Given the description of an element on the screen output the (x, y) to click on. 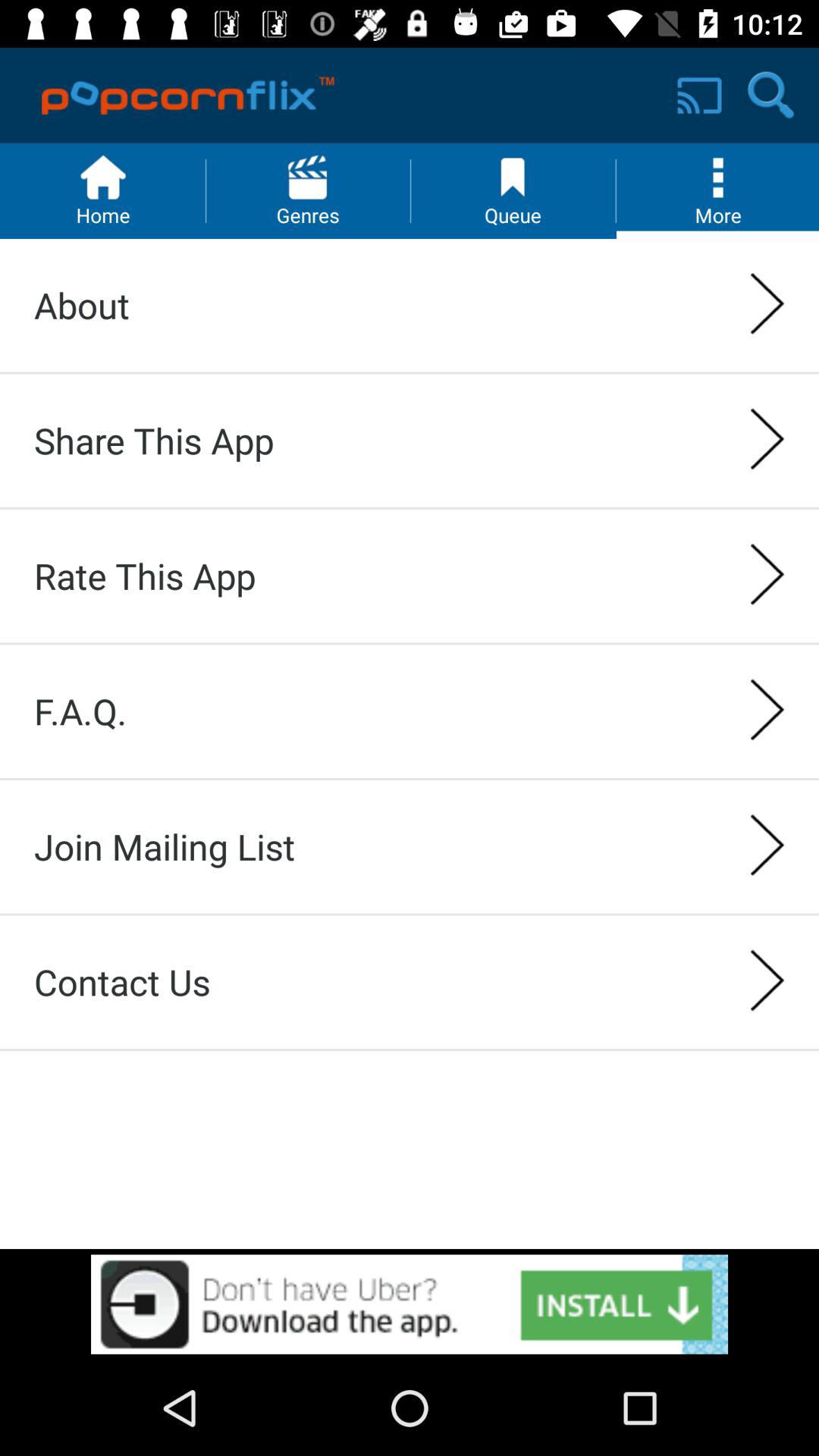
showing the advertisement (409, 1304)
